Given the description of an element on the screen output the (x, y) to click on. 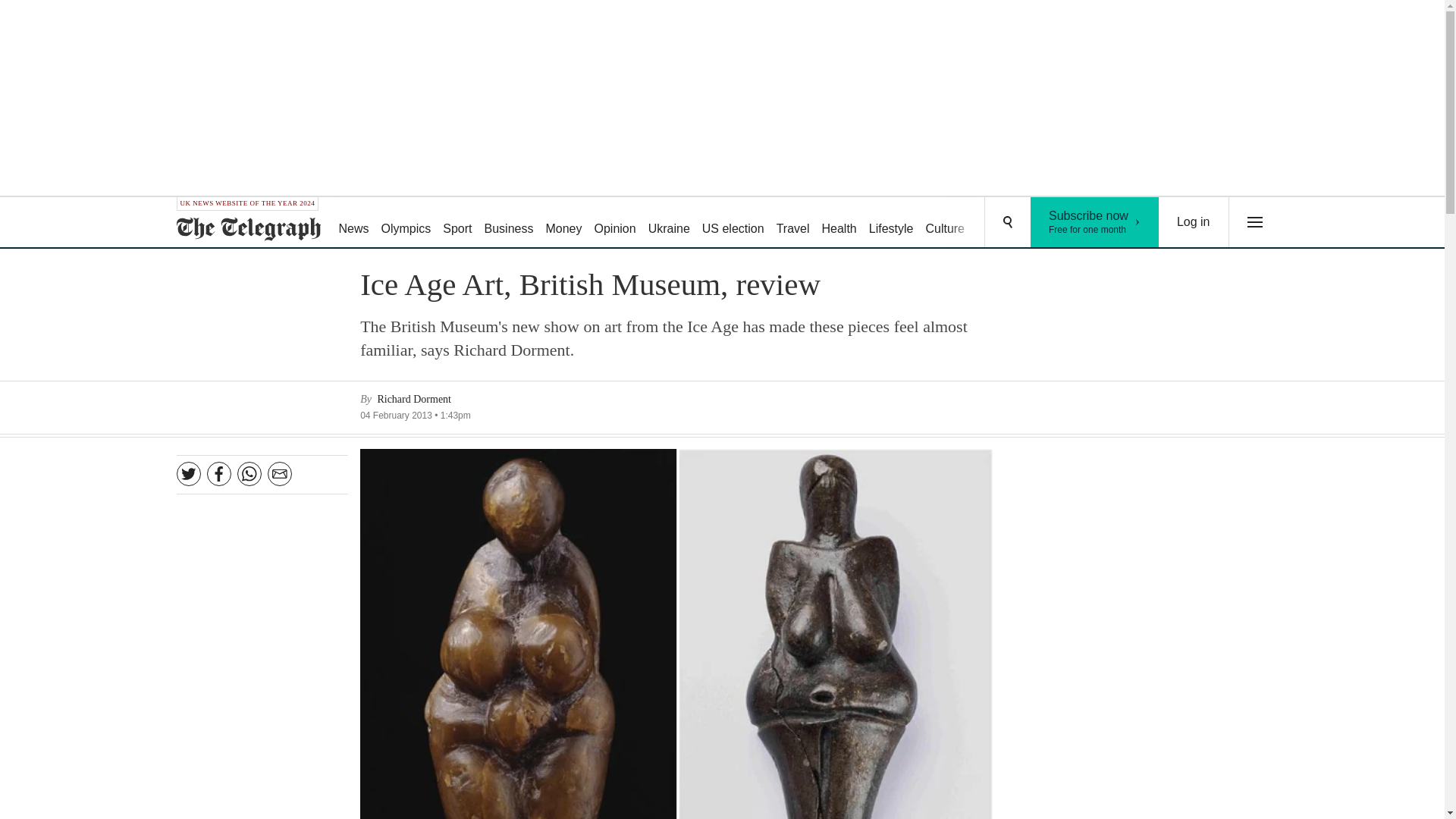
Podcasts (1056, 223)
US election (732, 223)
Culture (1094, 222)
Travel (944, 223)
Money (792, 223)
Puzzles (563, 223)
Lifestyle (998, 223)
Opinion (891, 223)
Ukraine (615, 223)
